Given the description of an element on the screen output the (x, y) to click on. 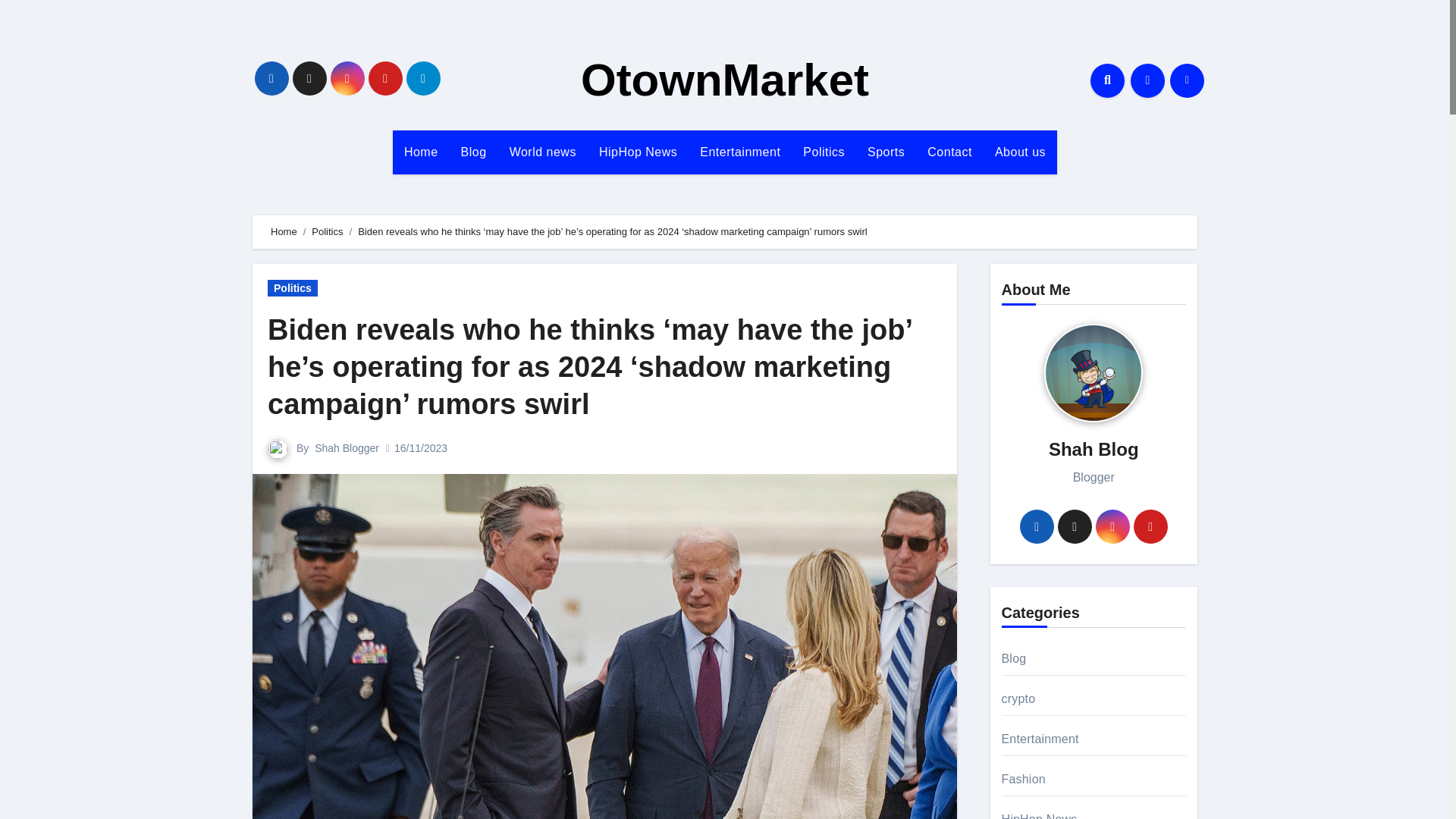
Home (283, 231)
Contact (949, 152)
About us (1020, 152)
Blog (473, 152)
Sports (885, 152)
Shah Blogger (346, 448)
Politics (326, 231)
Contact (949, 152)
About us (1020, 152)
Entertainment (740, 152)
Politics (292, 288)
World news (542, 152)
Sports (885, 152)
Entertainment (740, 152)
World news (542, 152)
